Given the description of an element on the screen output the (x, y) to click on. 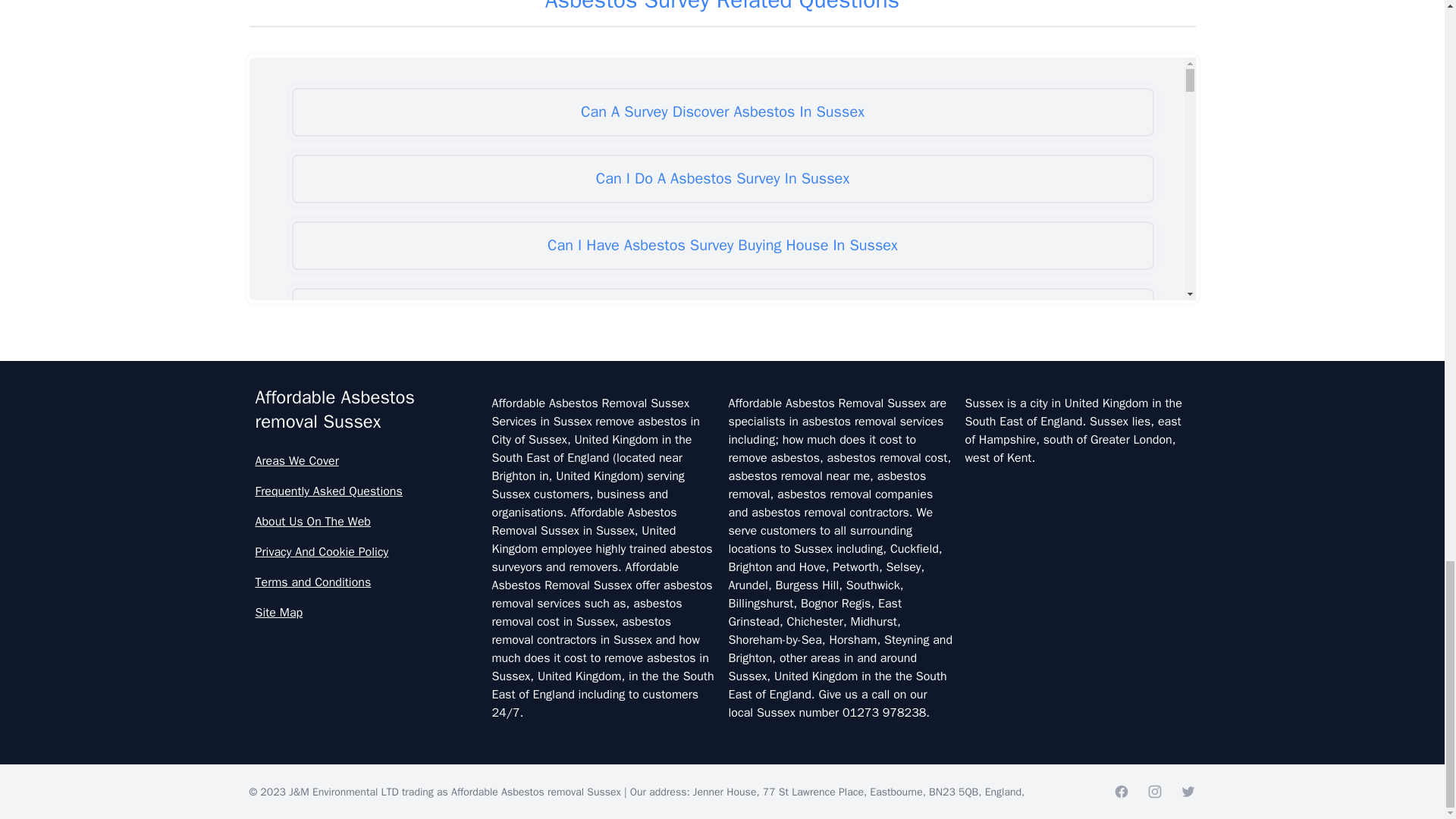
Can A Survey Discover Asbestos In Sussex (722, 111)
Do Business Need Asbestos Survey In Sussex (722, 645)
Can I Do A Asbestos Survey In Sussex (722, 178)
Do All 1980 Properties Require Asbestos Survey In Sussex (722, 378)
Site Map (366, 612)
Do All Buildings Need An Asbestos Survey In Sussex (722, 445)
Do Contractors Need To See Asbestos Survey Report In Sussex (722, 779)
Do Asbestos Surveys Priduce Dyst In Sussex (722, 579)
Can I Have Asbestos Survey Buying House In Sussex (722, 245)
